Given the description of an element on the screen output the (x, y) to click on. 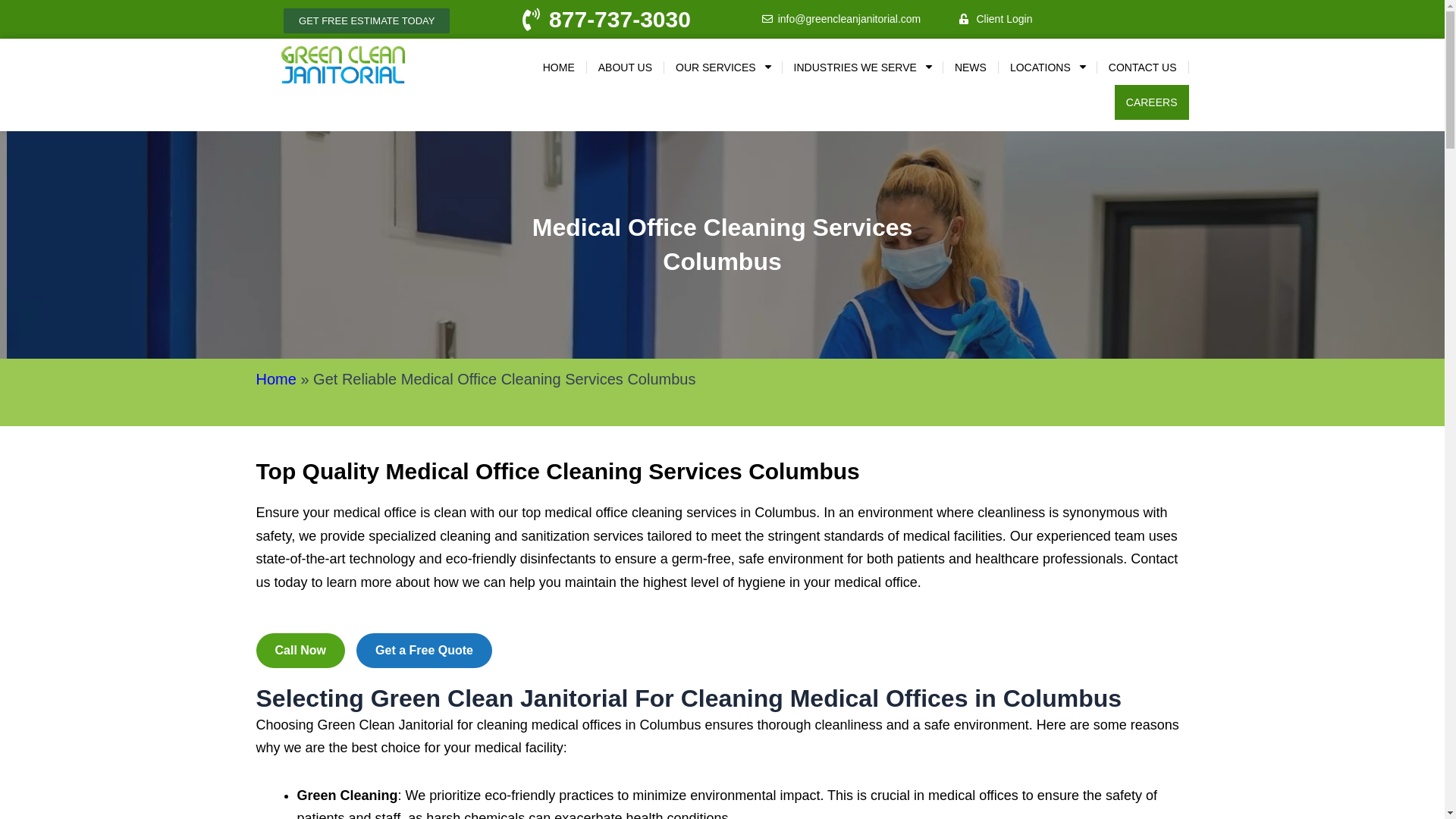
ABOUT US (624, 67)
GET FREE ESTIMATE TODAY (366, 19)
INDUSTRIES WE SERVE (862, 67)
HOME (558, 67)
OUR SERVICES (722, 67)
LOCATIONS (1047, 67)
877-737-3030 (603, 19)
NEWS (970, 67)
Client Login (1077, 19)
